Given the description of an element on the screen output the (x, y) to click on. 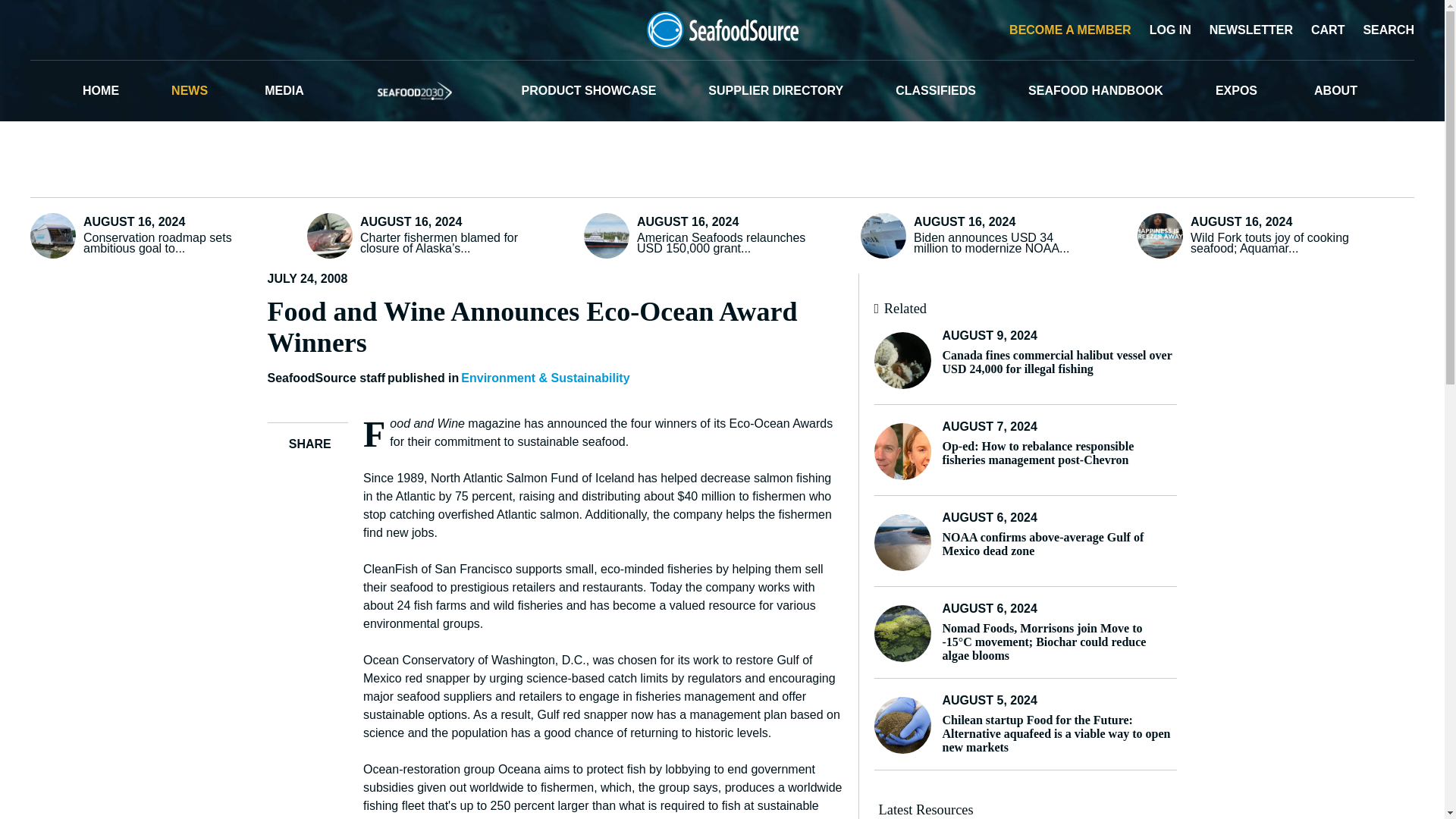
BECOME A MEMBER (1067, 29)
PRODUCT SHOWCASE (588, 90)
CLASSIFIEDS (935, 90)
CART (1324, 29)
Search SearfoodSource (1385, 29)
Your cart (1324, 29)
Become a member (1067, 29)
Subscribe to our newsletter (1248, 29)
SEARCH (1385, 29)
